Given the description of an element on the screen output the (x, y) to click on. 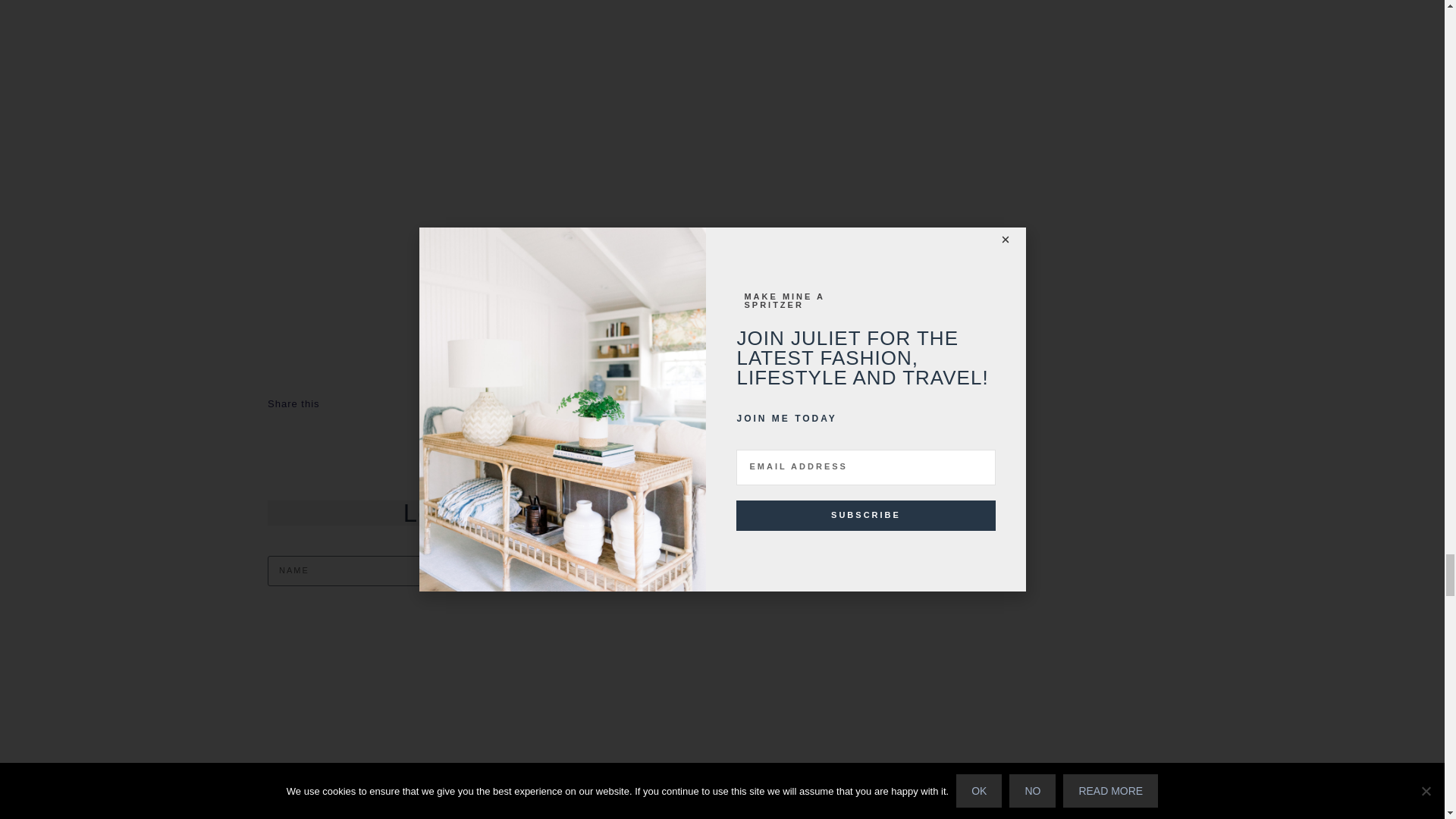
My Experience on the Ritz Carlton Yacht Collection's Evrima (377, 715)
Better Late Than Never Holiday Gift Ideas (835, 715)
My Niece's Small and Intimate Summer Wedding (606, 715)
